Given the description of an element on the screen output the (x, y) to click on. 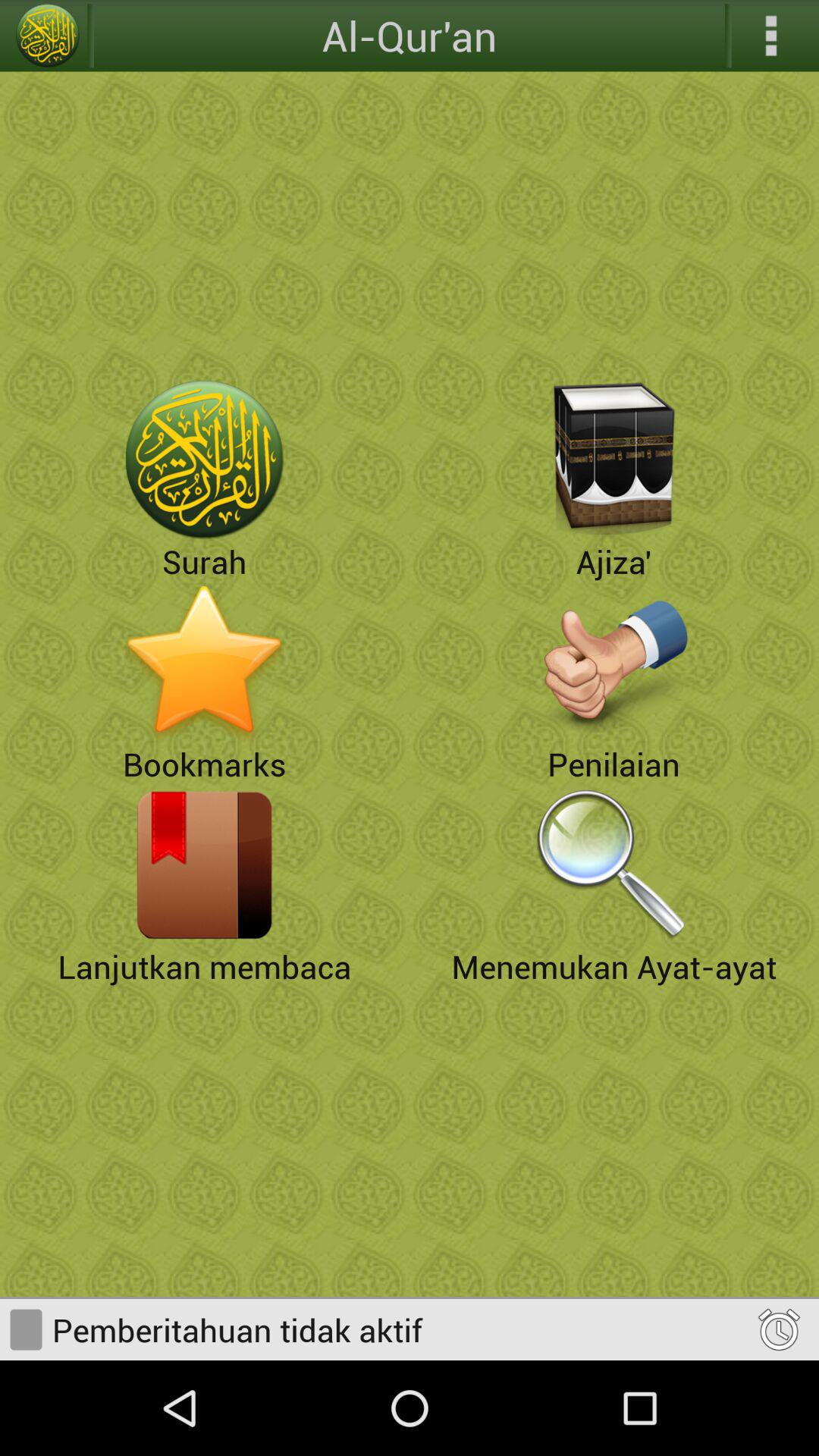
add reminder (778, 1329)
